Given the description of an element on the screen output the (x, y) to click on. 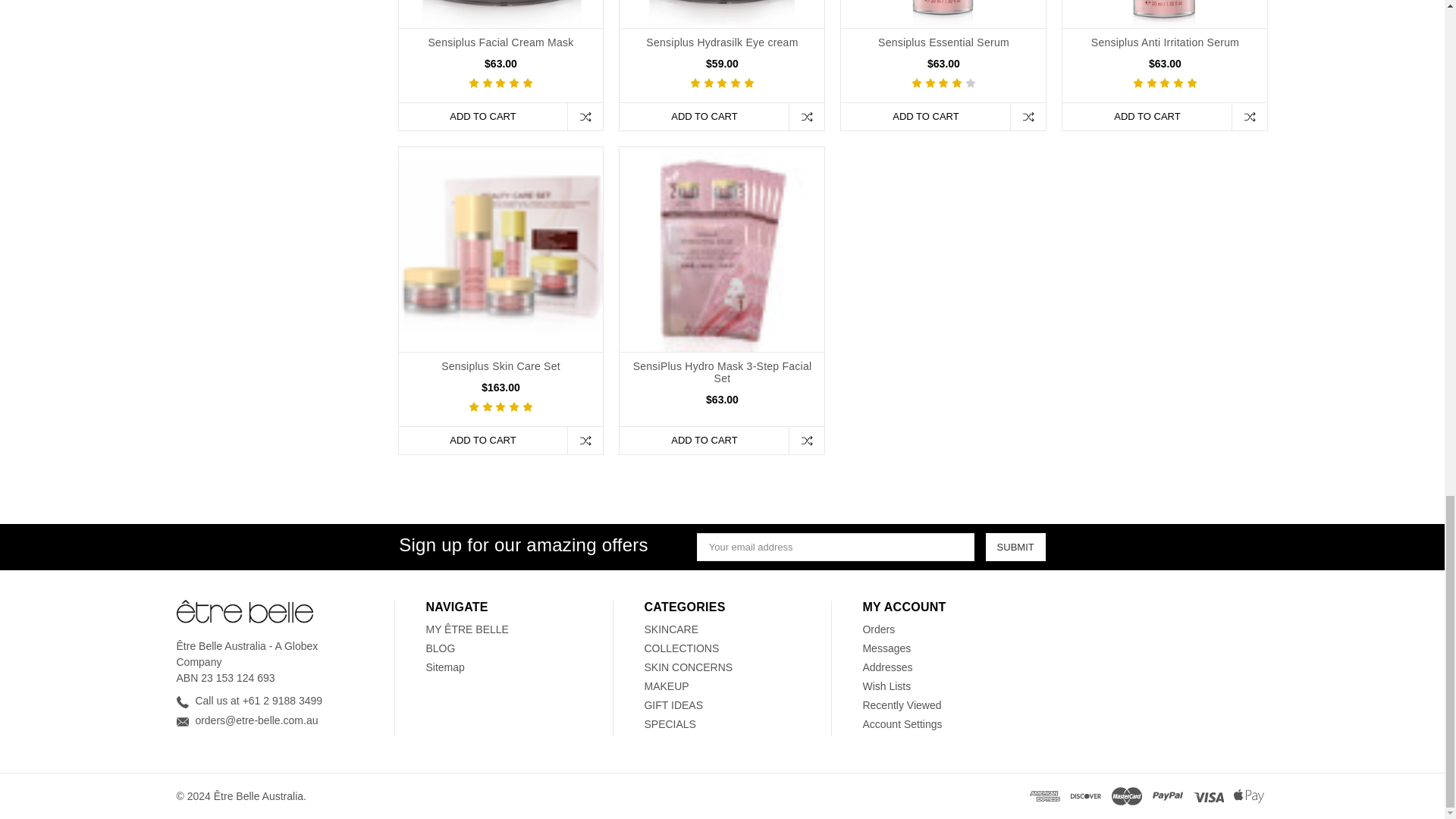
serum for sensitive, irritated skin  (1164, 13)
Submit (1015, 547)
essential serum for sensitive skin  (943, 13)
sensitive skin facial mask (722, 249)
eye cream for sensitive skin (722, 12)
cream-mask for sensitive skin (501, 13)
skin care set for sensitive skin   (501, 249)
